Given the description of an element on the screen output the (x, y) to click on. 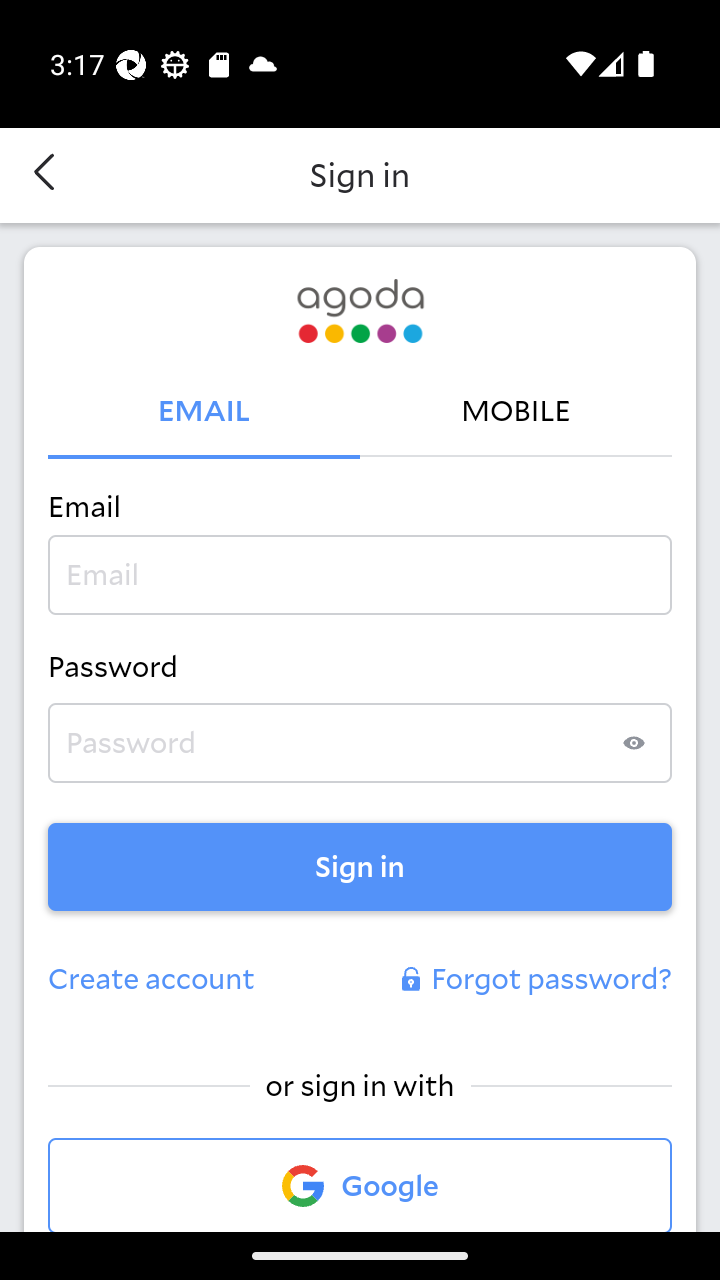
EMAIL (204, 412)
MOBILE (515, 412)
Sign in (359, 866)
Create account (152, 979)
Forgot password? (534, 979)
Google (359, 1183)
